Given the description of an element on the screen output the (x, y) to click on. 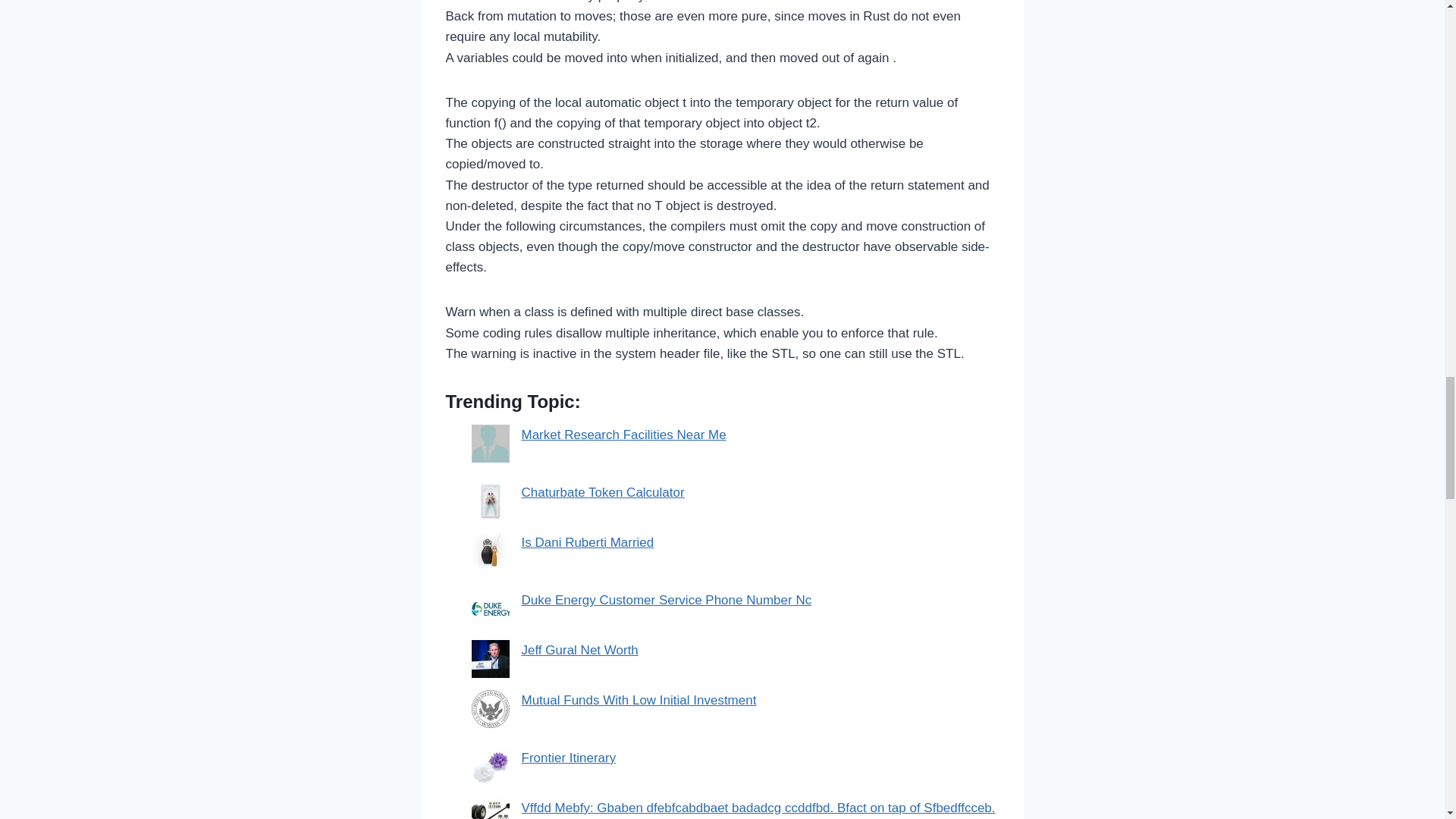
Jeff Gural Net Worth (580, 649)
Market Research Facilities Near Me (623, 434)
Duke Energy Customer Service Phone Number Nc (666, 599)
Frontier Itinerary (568, 757)
Chaturbate Token Calculator (602, 492)
Mutual Funds With Low Initial Investment (639, 699)
Is Dani Ruberti Married (587, 542)
